Given the description of an element on the screen output the (x, y) to click on. 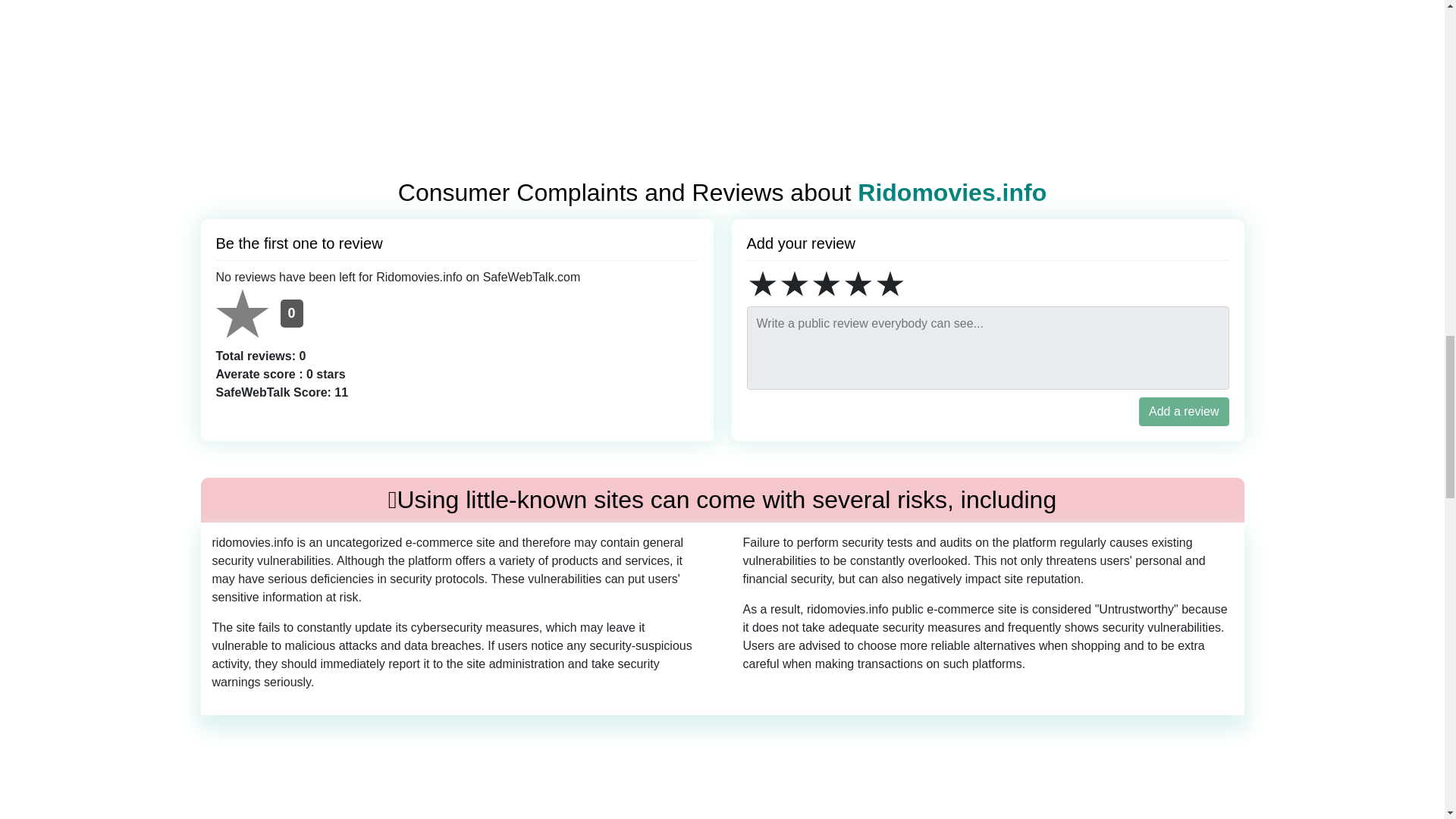
Add a review (1183, 411)
